Given the description of an element on the screen output the (x, y) to click on. 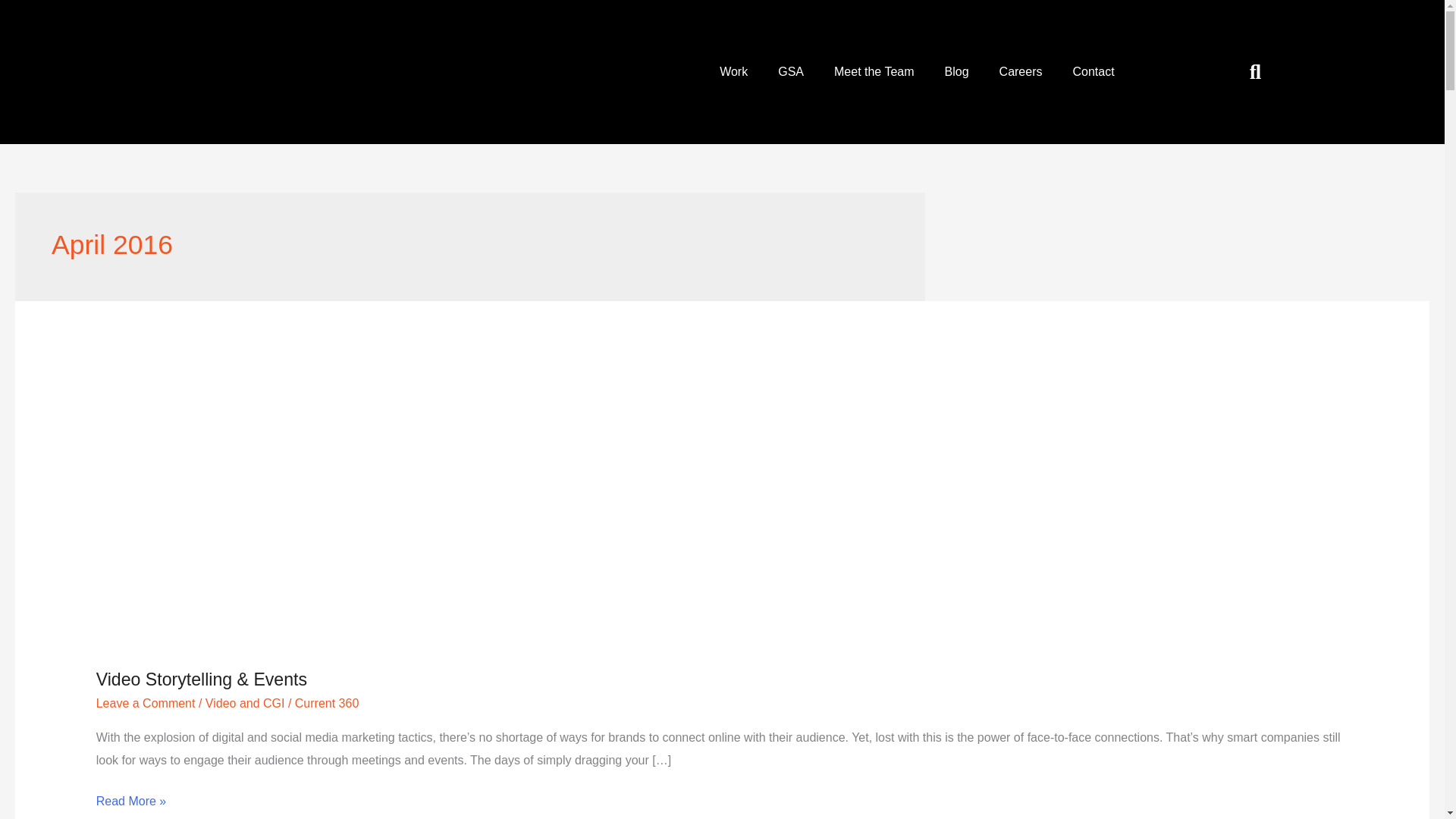
View all posts by Current 360 (327, 703)
Video and CGI (245, 703)
Careers (1021, 71)
Leave a Comment (145, 703)
Current 360 (327, 703)
Contact (1093, 71)
Blog (957, 71)
Meet the Team (874, 71)
GSA (790, 71)
Work (733, 71)
